Given the description of an element on the screen output the (x, y) to click on. 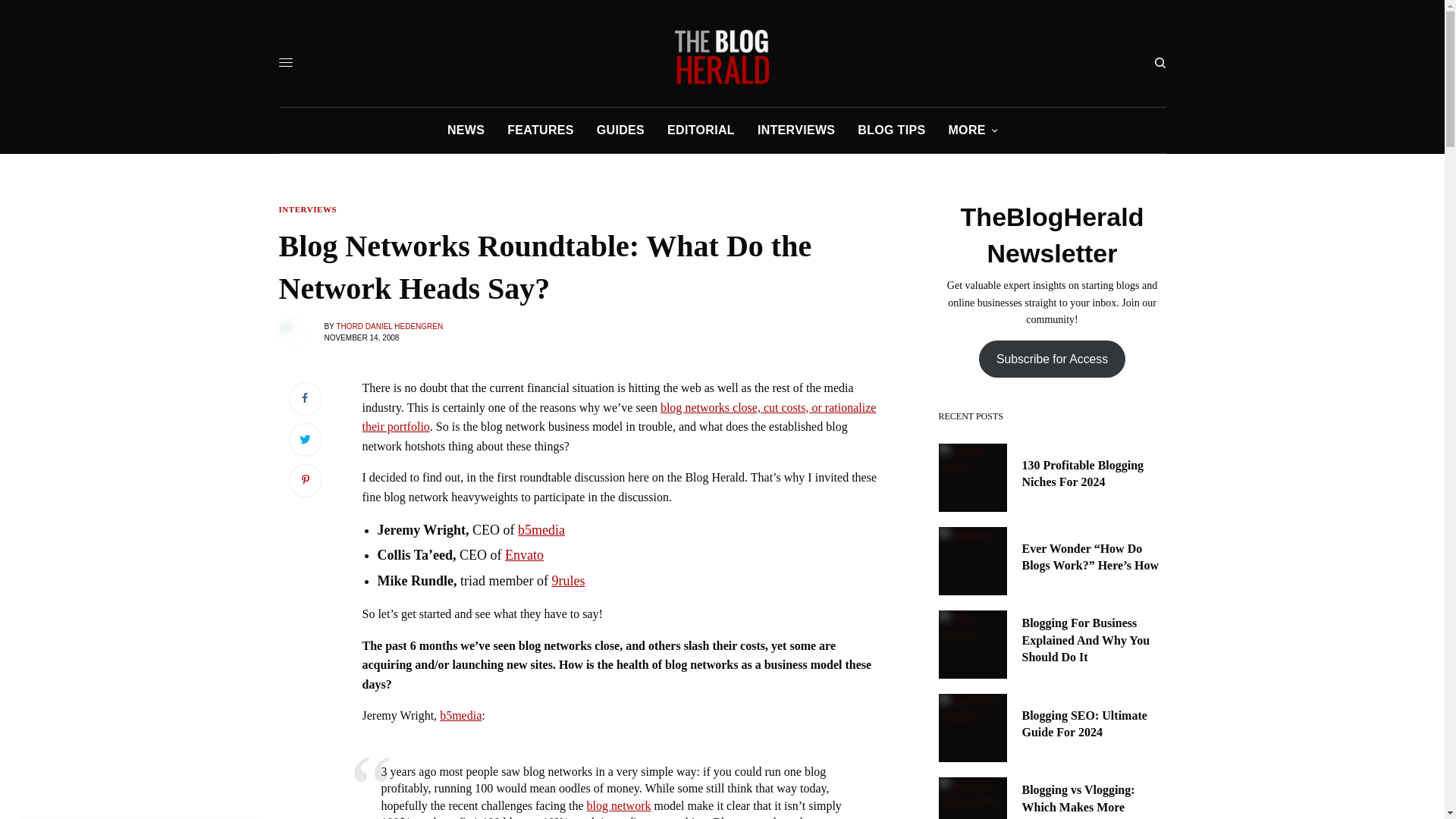
Blogging SEO: Ultimate Guide For 2024 (1094, 724)
GUIDES (620, 130)
9rules (568, 580)
BLOG TIPS (890, 130)
The Blog Herald (722, 56)
Blogging For Business Explained And Why You Should Do It (1094, 640)
blog network (618, 805)
b5media (541, 529)
THORD DANIEL HEDENGREN (389, 326)
